Given the description of an element on the screen output the (x, y) to click on. 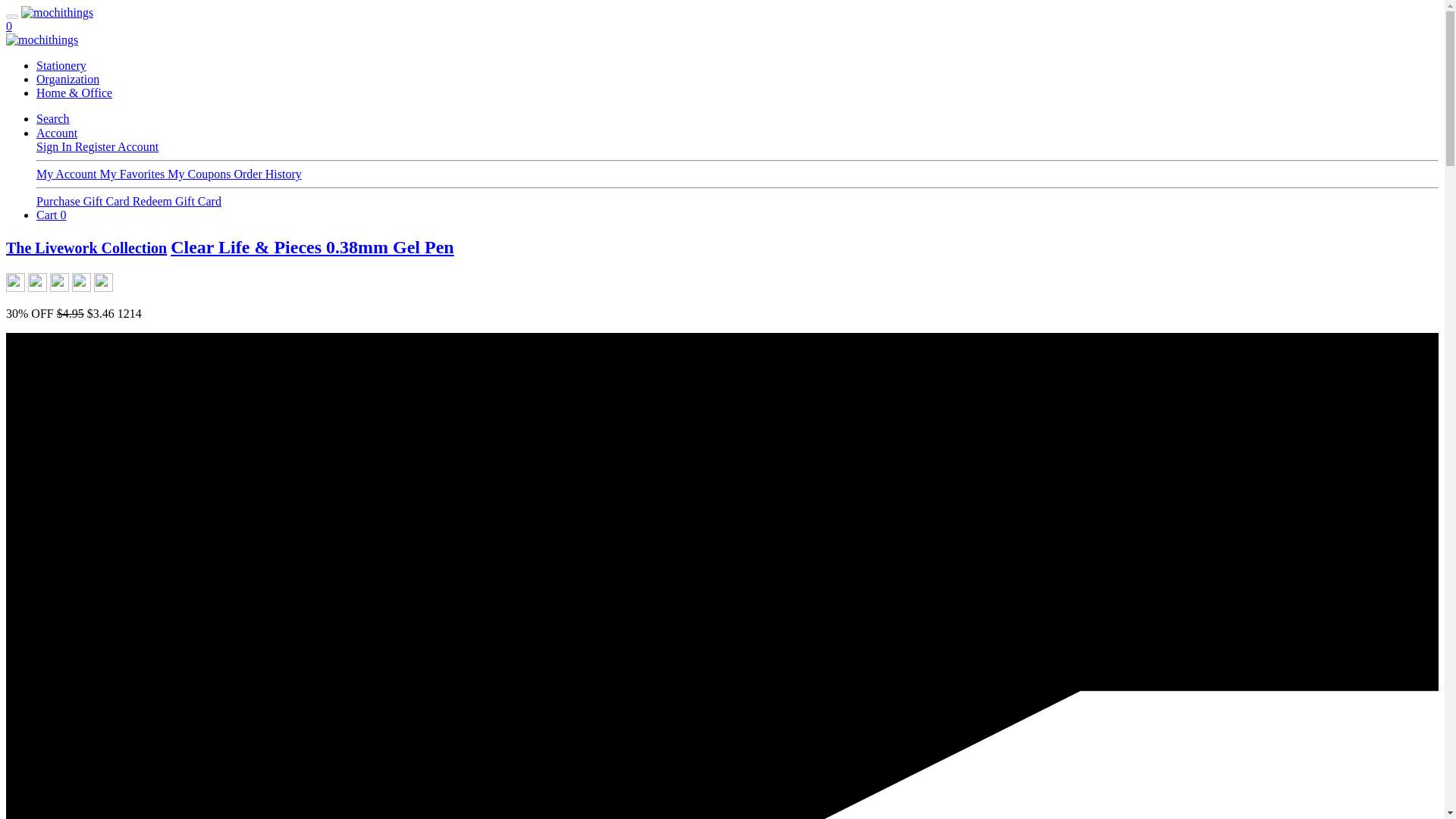
Stationery (60, 65)
Organization (67, 78)
Account (56, 132)
Purchase Gift Card (84, 201)
My Favorites (134, 173)
Sign In (55, 146)
My Coupons (199, 173)
Search (52, 118)
Cart 0 (51, 214)
Register Account (116, 146)
The Livework Collection (86, 247)
0 (8, 25)
My Account (68, 173)
Redeem Gift Card (176, 201)
Order History (266, 173)
